Given the description of an element on the screen output the (x, y) to click on. 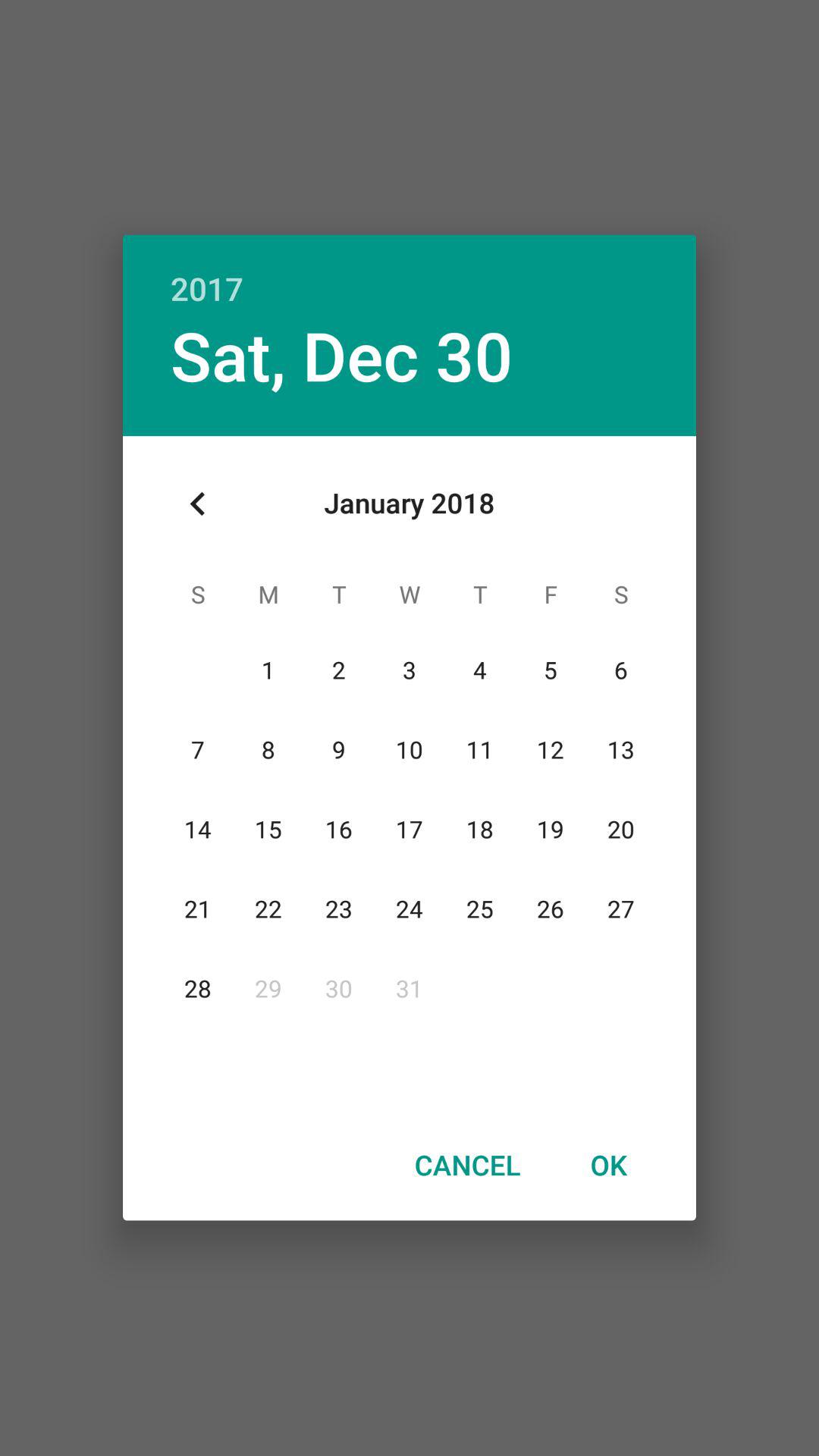
swipe to sat, dec 30 (341, 354)
